Given the description of an element on the screen output the (x, y) to click on. 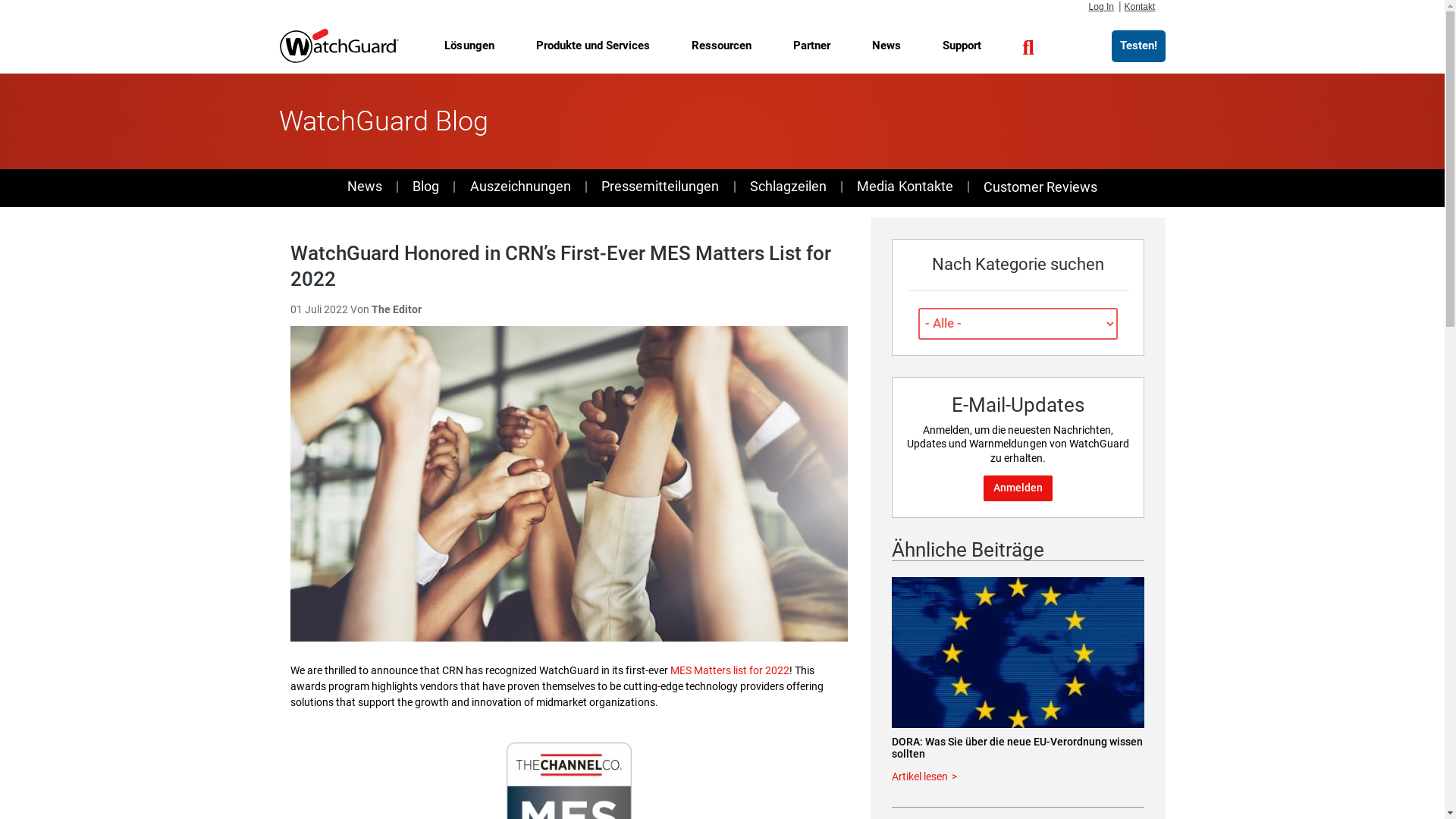
Log In (1101, 6)
Produkte und Services (592, 45)
Kontakt (1140, 6)
